Given the description of an element on the screen output the (x, y) to click on. 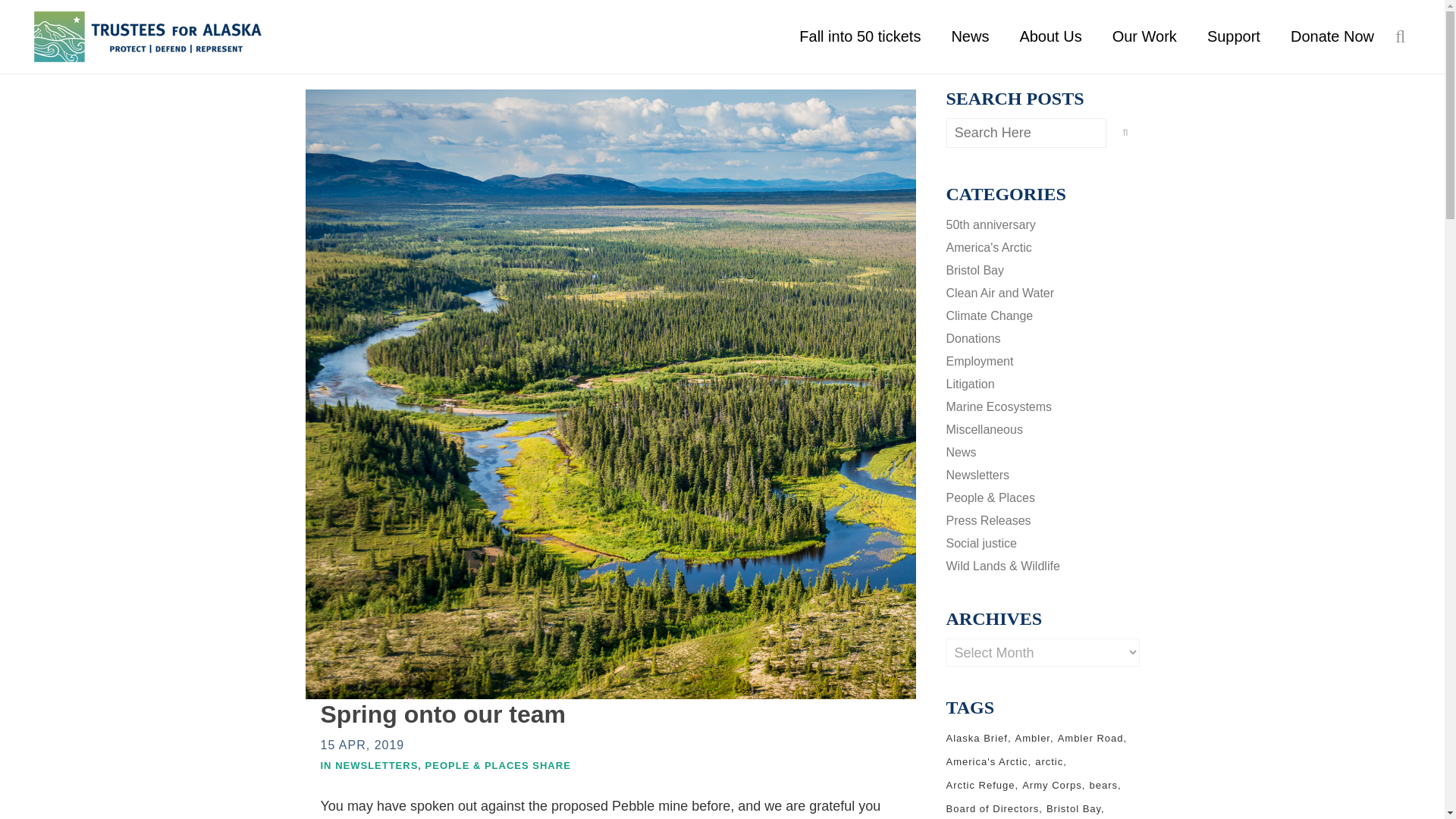
Support (1233, 36)
About Us (1050, 36)
Donate Now (1332, 36)
News (970, 36)
Our Work (1144, 36)
Fall into 50 tickets (860, 36)
